Given the description of an element on the screen output the (x, y) to click on. 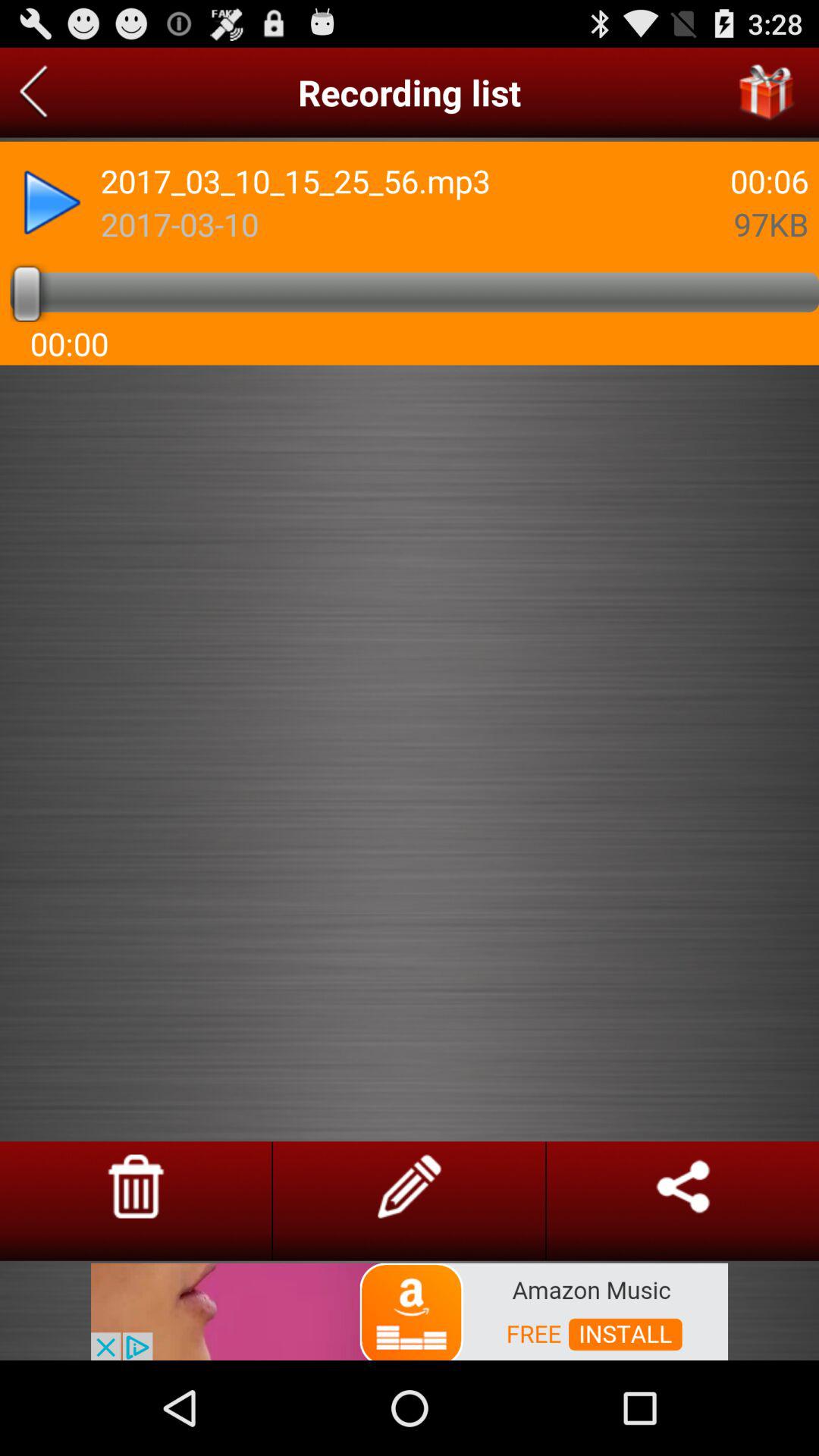
settings option (409, 1186)
